Given the description of an element on the screen output the (x, y) to click on. 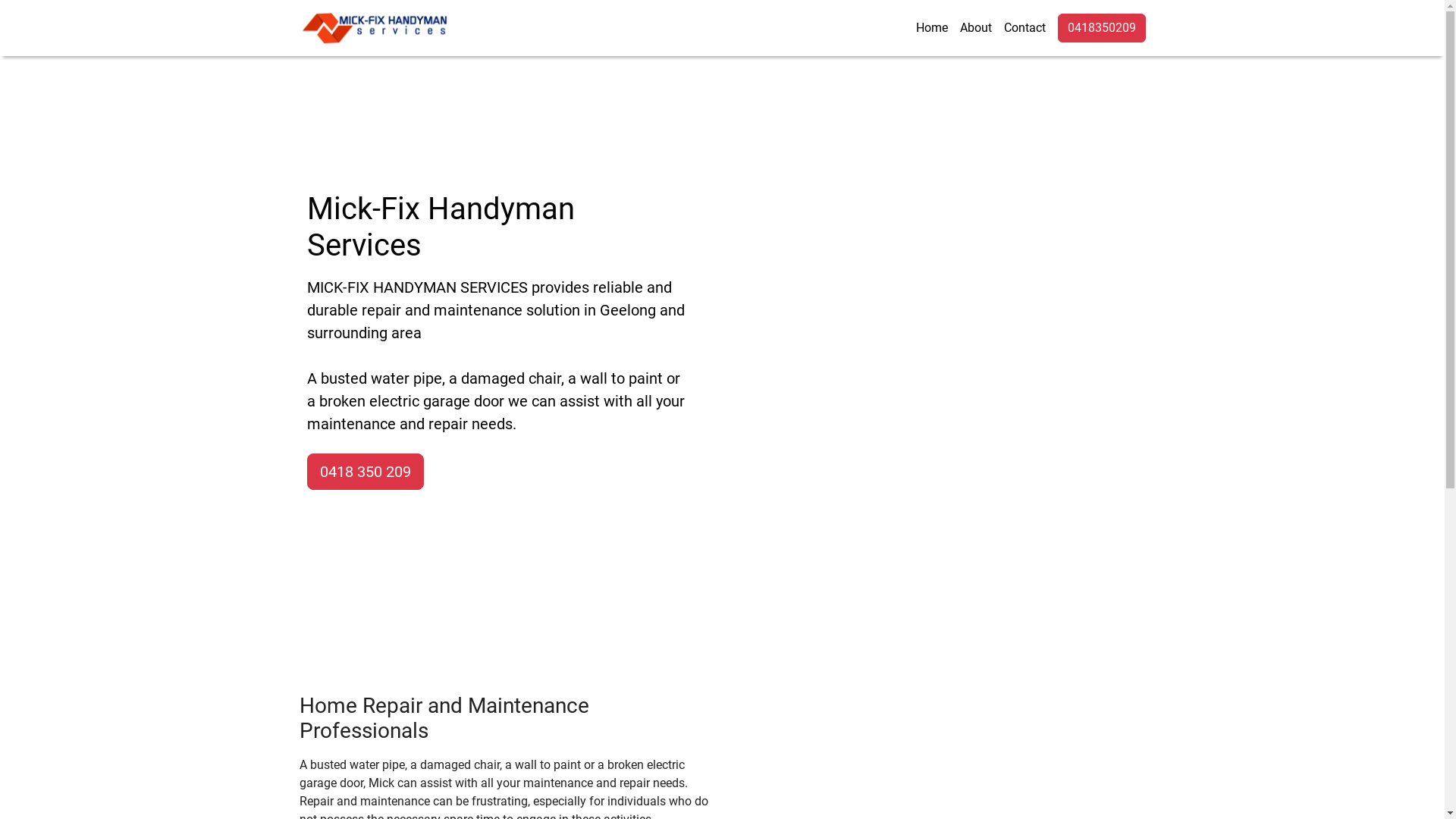
Contact Element type: text (1024, 27)
About Element type: text (975, 27)
0418 350 209 Element type: text (364, 471)
Home Element type: text (931, 27)
0418350209 Element type: text (1101, 27)
